Given the description of an element on the screen output the (x, y) to click on. 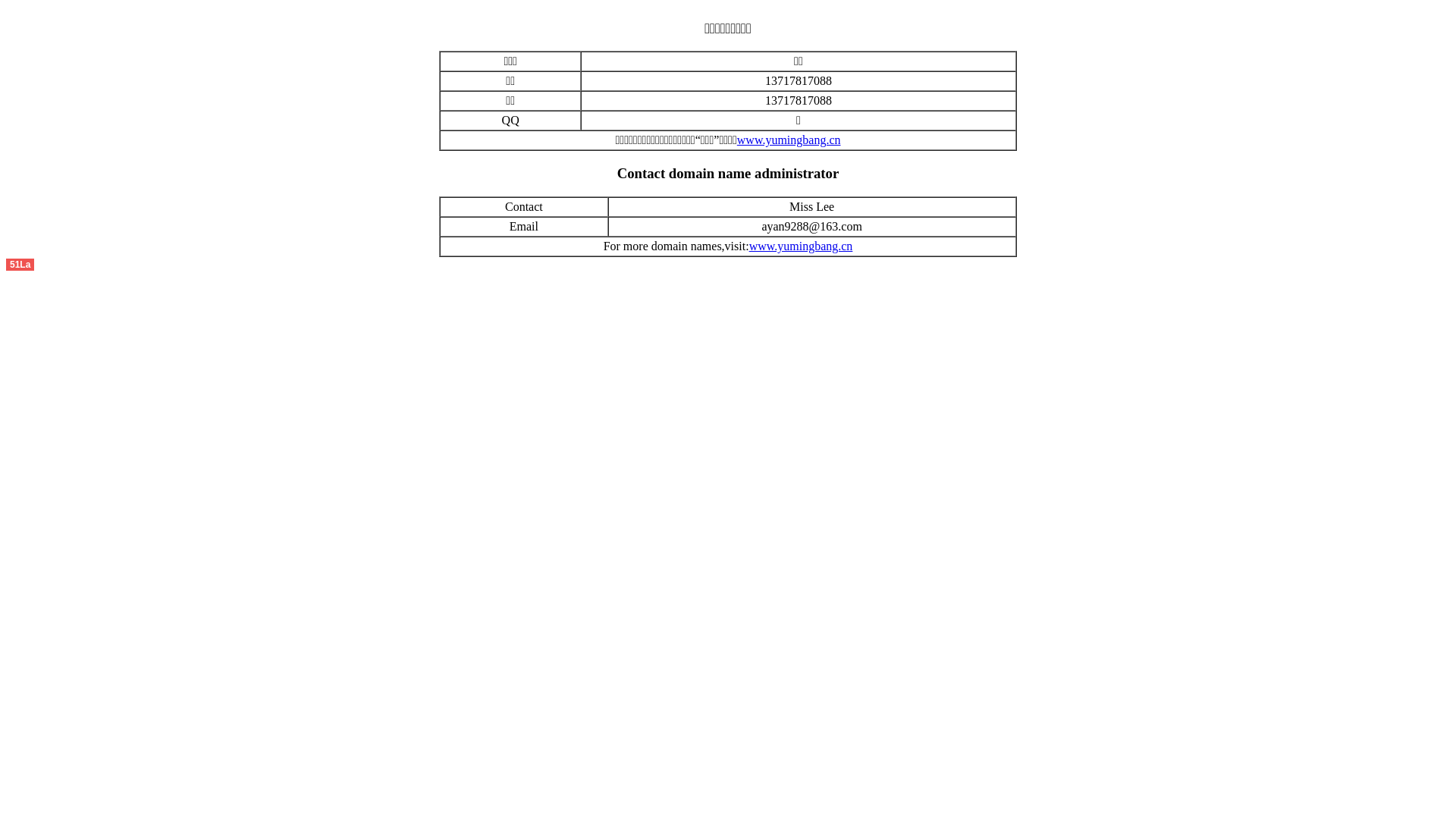
www.yumingbang.cn Element type: text (788, 139)
51La Element type: text (20, 263)
www.yumingbang.cn Element type: text (801, 245)
